Given the description of an element on the screen output the (x, y) to click on. 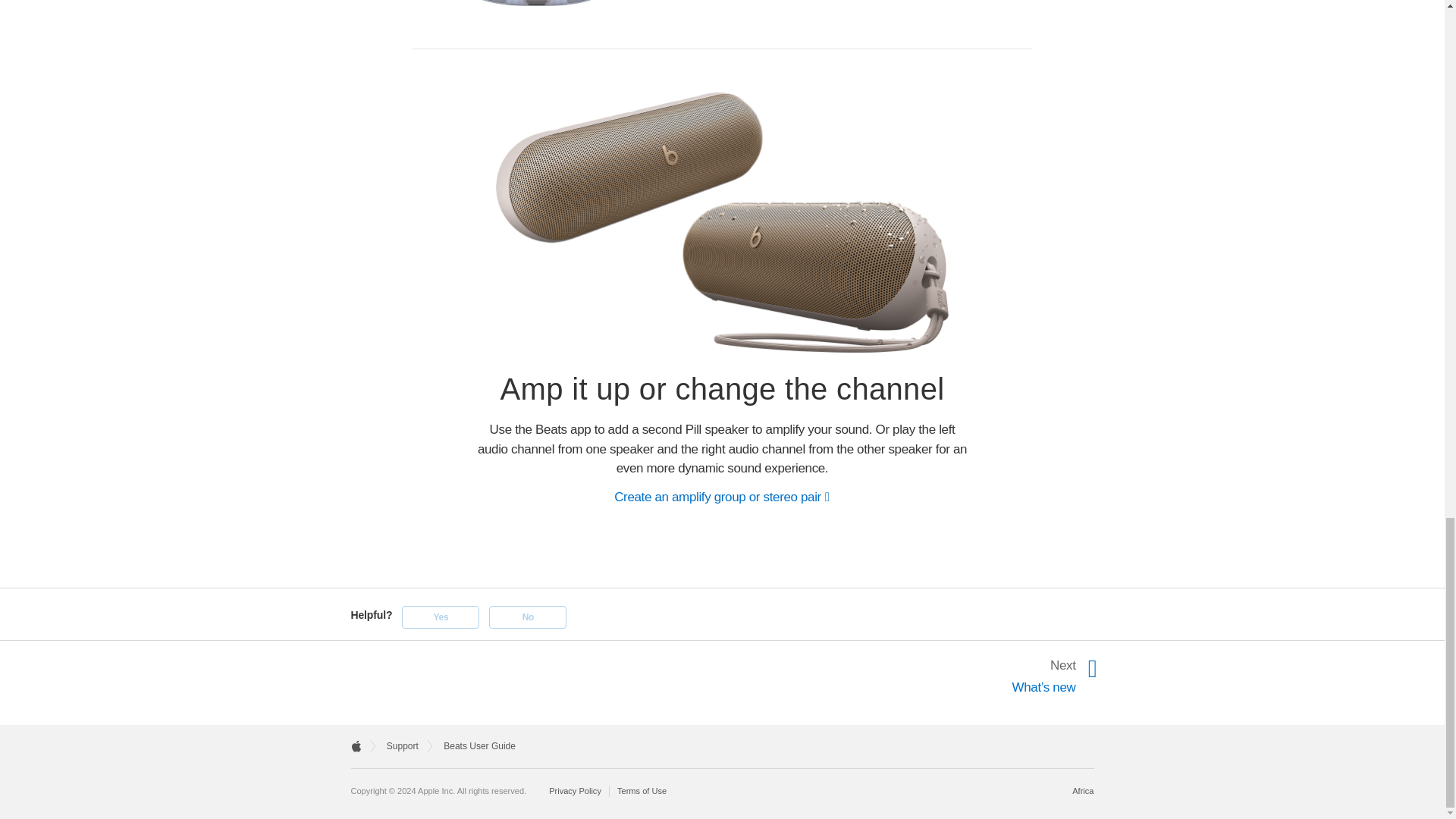
Not helpful (527, 617)
No (527, 617)
Create an amplify group or stereo pair (721, 496)
Choose your country or region (1082, 790)
Privacy Policy (579, 790)
Africa (1082, 790)
Support (403, 746)
Yes (440, 617)
Terms of Use (641, 790)
Solved my problem (440, 617)
